Given the description of an element on the screen output the (x, y) to click on. 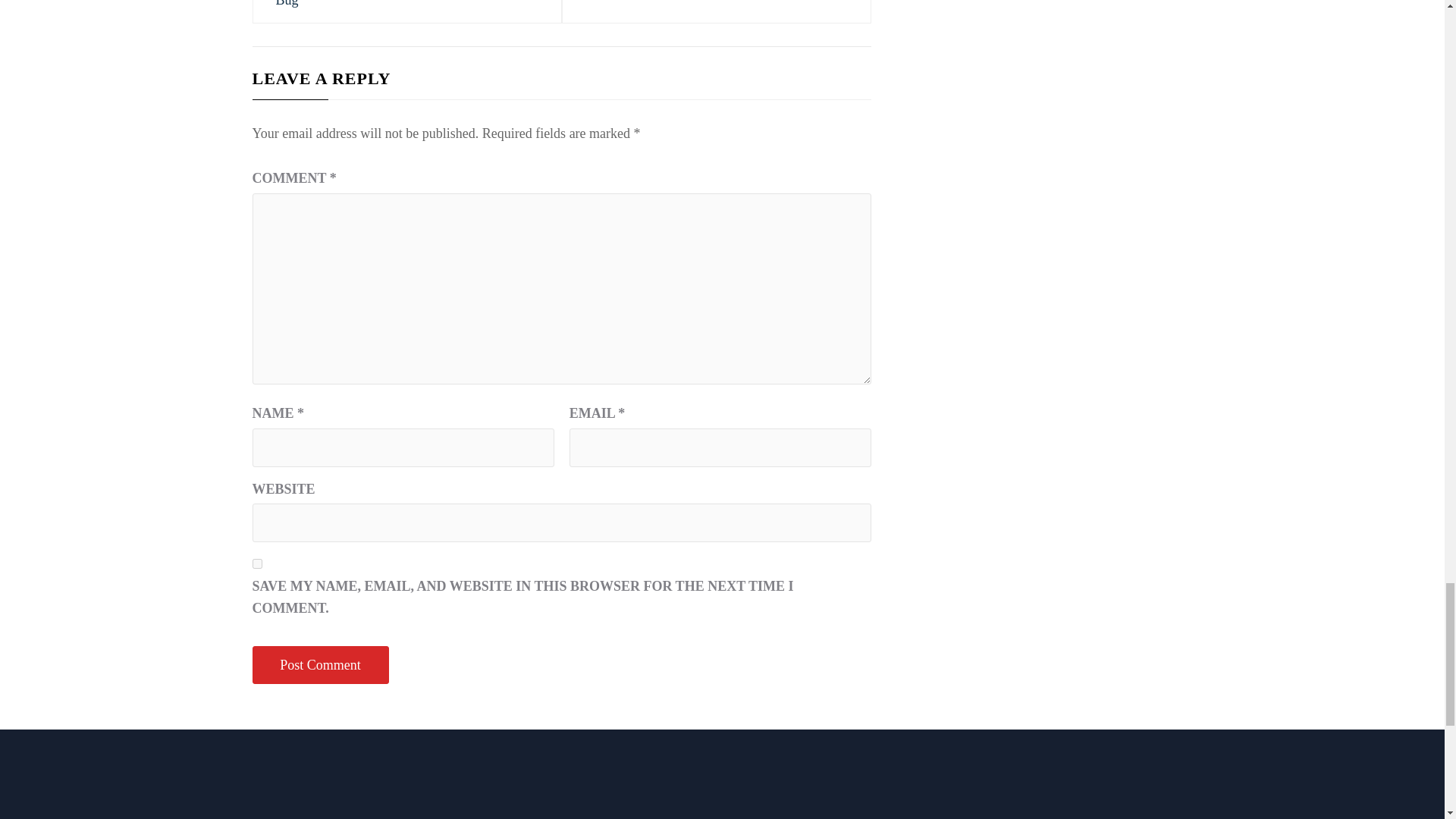
yes (256, 563)
Post Comment (319, 665)
Post Comment (319, 665)
